Given the description of an element on the screen output the (x, y) to click on. 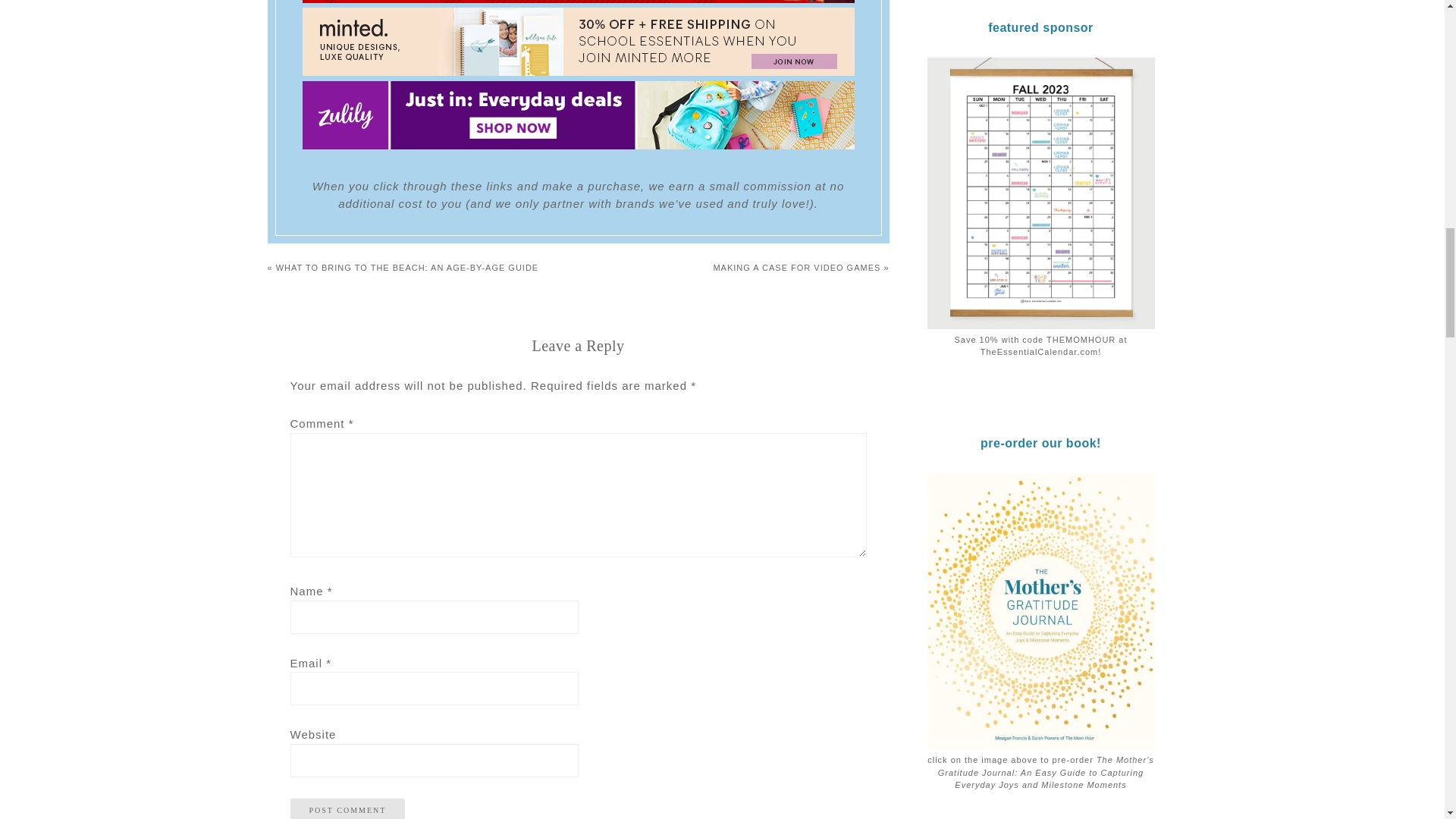
Post Comment (346, 808)
